Given the description of an element on the screen output the (x, y) to click on. 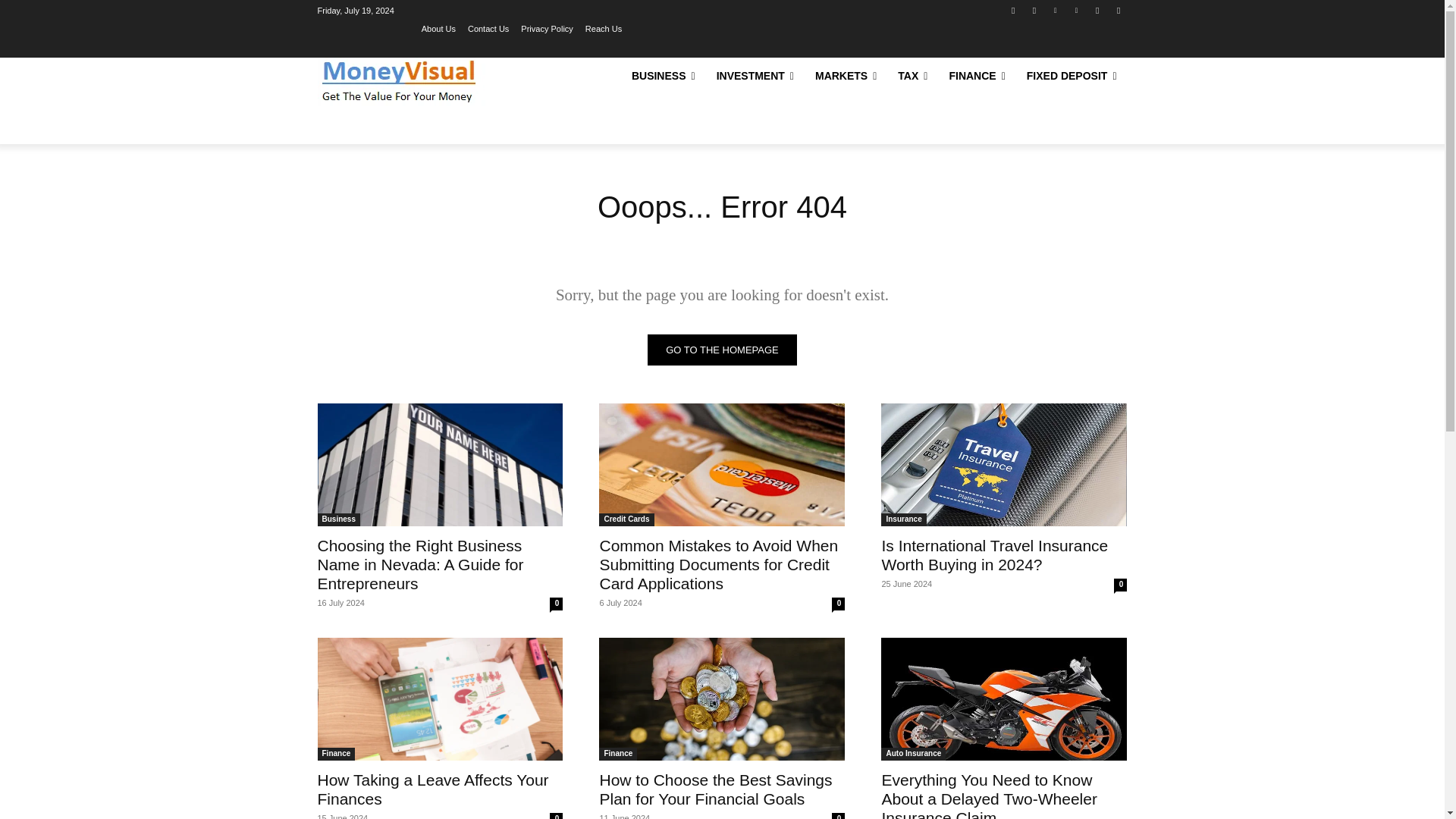
Pinterest (1075, 9)
About Us (438, 28)
Reach Us (603, 28)
Twitter (1097, 9)
How to Choose the Best Savings Plan for Your Financial Goals (714, 789)
Linkedin (1055, 9)
Facebook (1013, 9)
How Taking a Leave Affects Your Finances (439, 699)
How to Choose the Best Savings Plan for Your Financial Goals (721, 699)
Instagram (1034, 9)
Contact Us (487, 28)
Youtube (1117, 9)
